Given the description of an element on the screen output the (x, y) to click on. 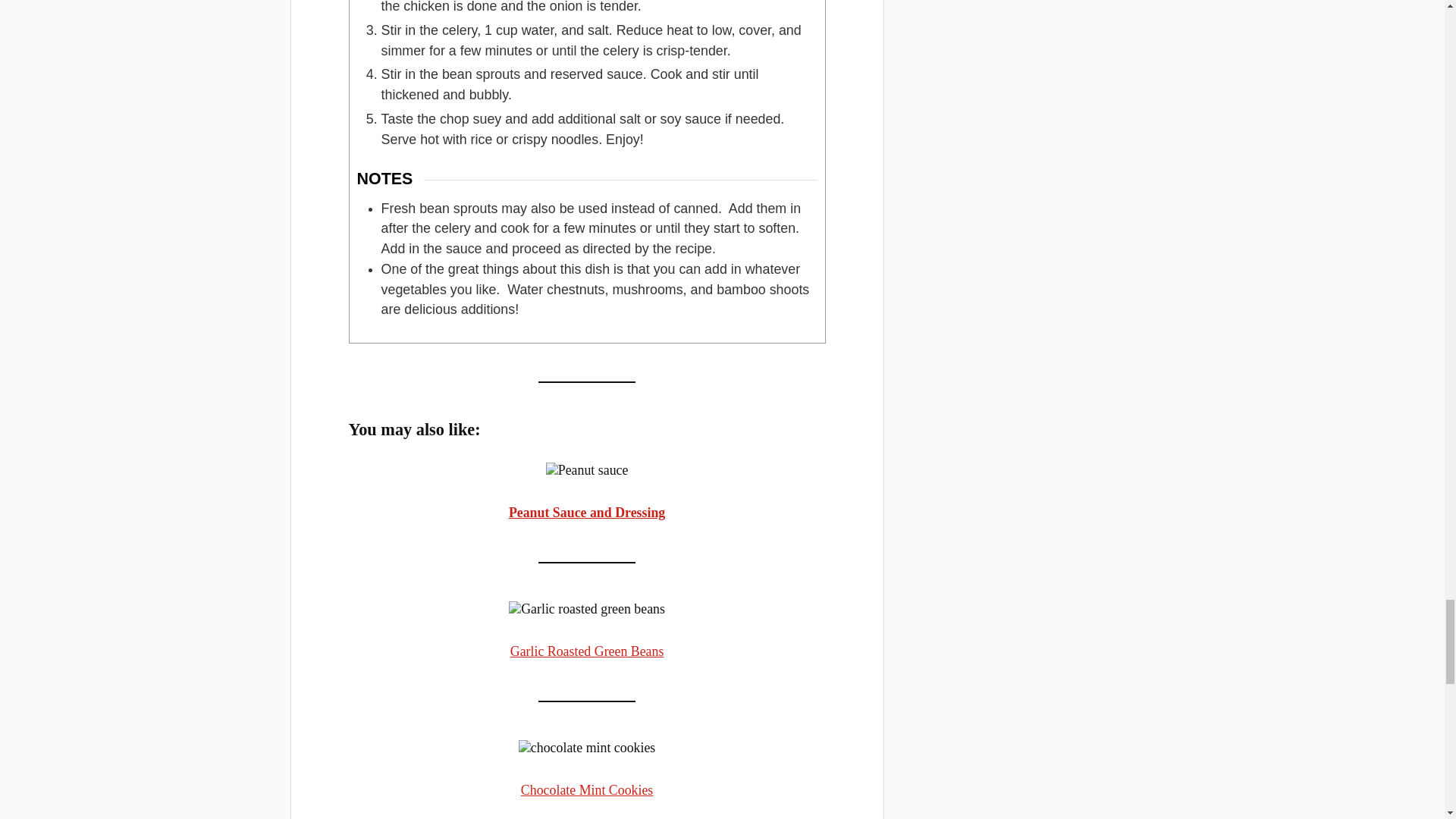
Peanut Sauce and Dressing (586, 512)
Garlic Roasted Green Beans (587, 651)
Chocolate Mint Cookies (586, 789)
